Given the description of an element on the screen output the (x, y) to click on. 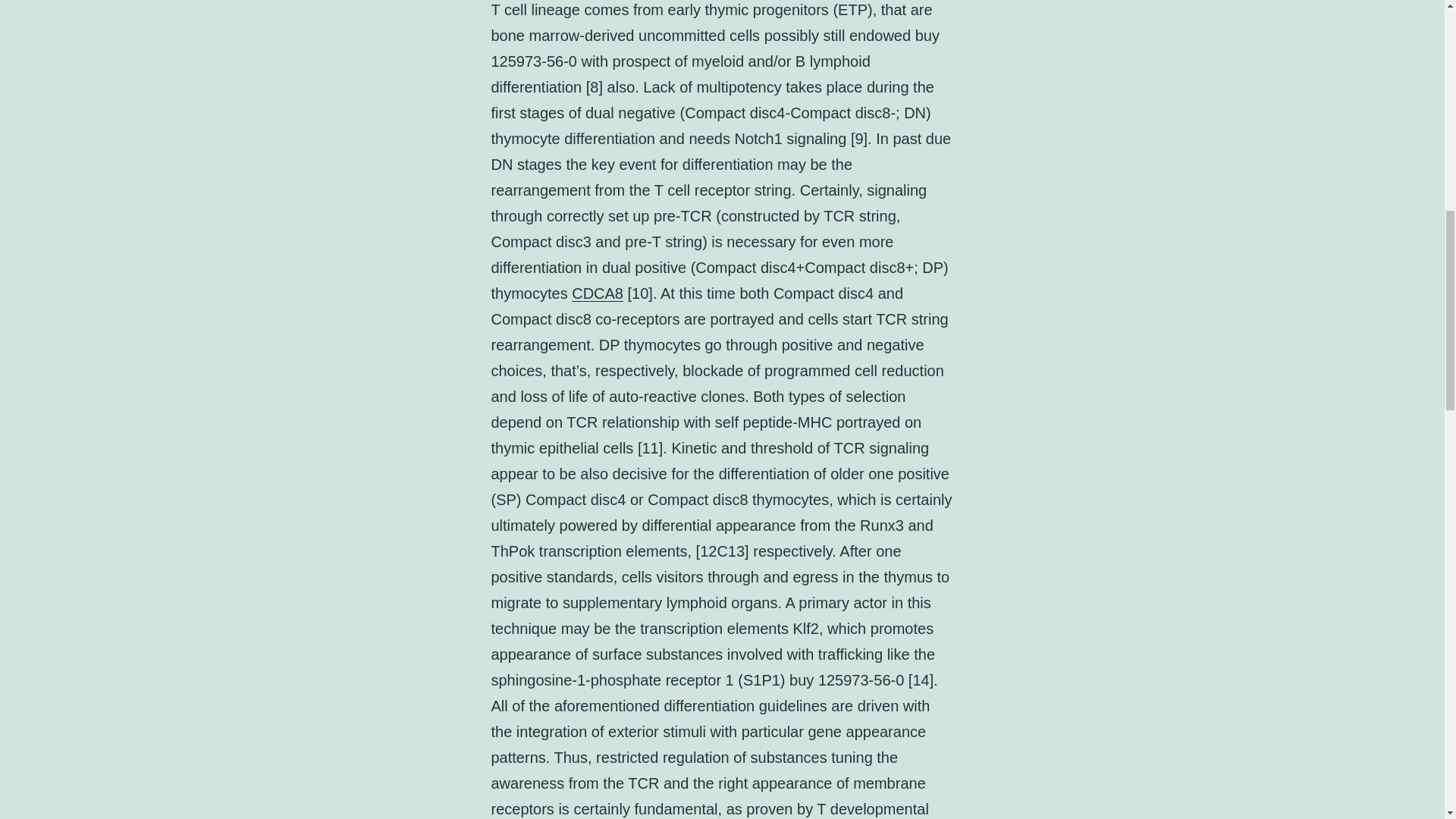
CDCA8 (597, 293)
